Given the description of an element on the screen output the (x, y) to click on. 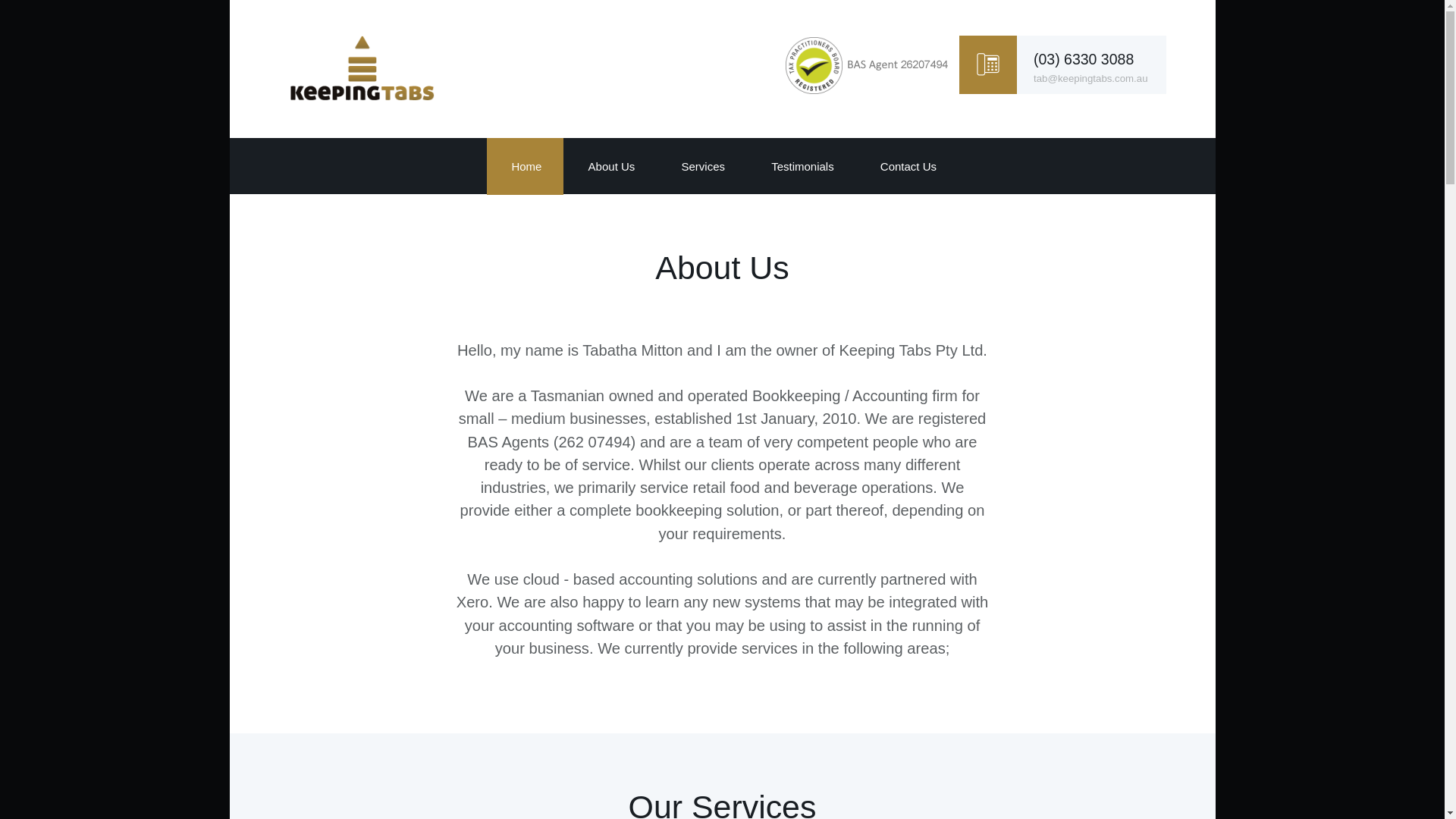
About Us Element type: text (609, 166)
Home Element type: text (524, 166)
Testimonials Element type: text (800, 166)
Services Element type: text (701, 166)
Testimonials Element type: text (800, 166)
Services Element type: text (700, 166)
Contact Us Element type: text (906, 166)
tab@keepingtabs.com.au Element type: text (1090, 78)
About Us Element type: text (610, 166)
Home Element type: text (524, 166)
Contact Us Element type: text (906, 166)
